Given the description of an element on the screen output the (x, y) to click on. 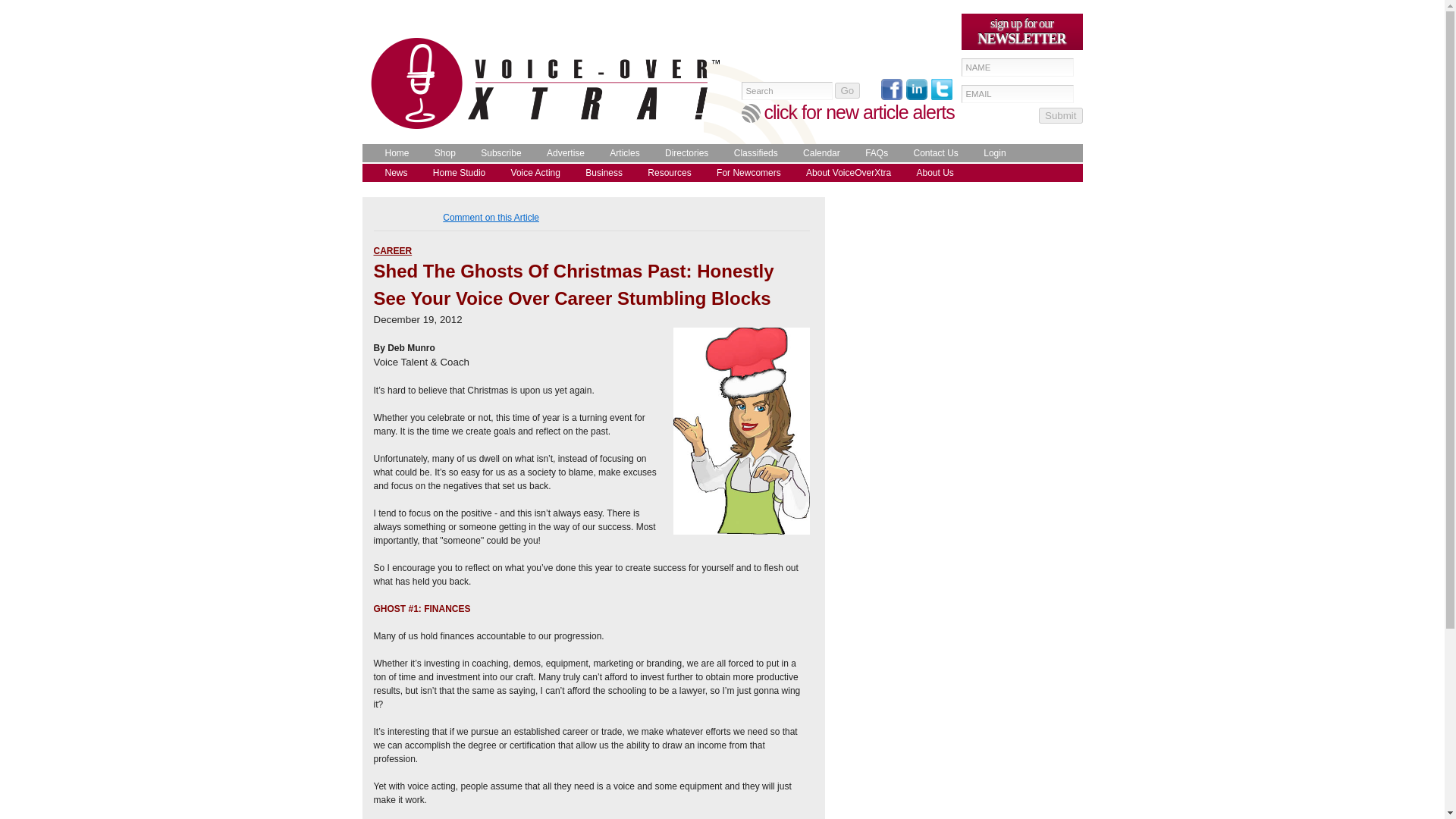
Articles (620, 152)
Go (847, 90)
Comment on this Article (490, 217)
Subscribe (497, 152)
Calendar (817, 152)
Submit (1060, 115)
Directories (682, 152)
Home (393, 152)
Classifieds (751, 152)
Go (847, 90)
